Given the description of an element on the screen output the (x, y) to click on. 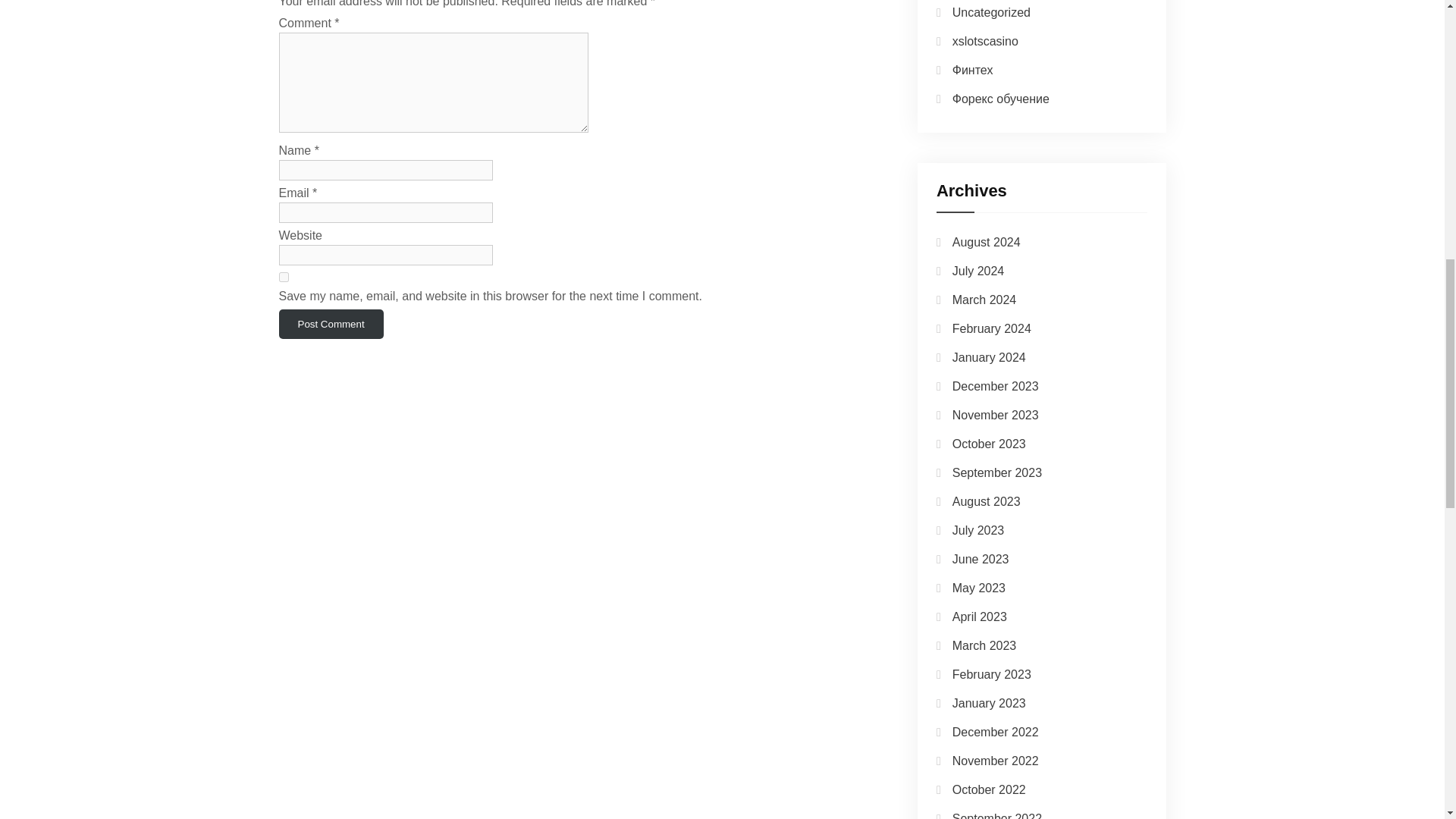
yes (283, 276)
Uncategorized (991, 11)
Post Comment (331, 324)
August 2024 (986, 241)
xslotscasino (984, 41)
Post Comment (331, 324)
July 2024 (978, 270)
March 2024 (984, 299)
